Given the description of an element on the screen output the (x, y) to click on. 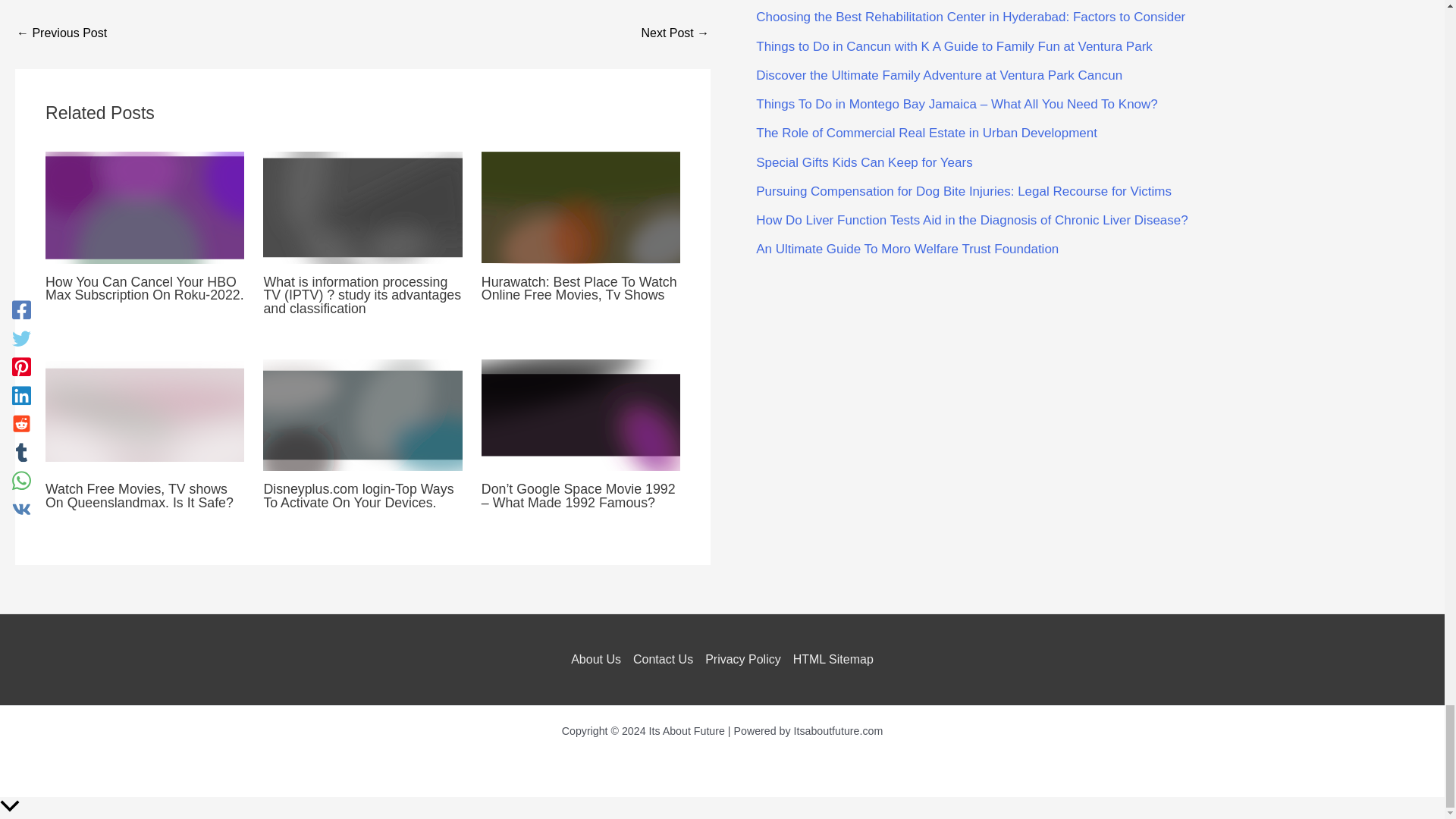
Disneyplus.com login-Top Ways To Activate On Your Devices. 7 (362, 415)
Watch Free Movies, TV shows On Queenslandmax. Is It Safe? 6 (144, 415)
Don't Google Space Movie 1992 - What Made 1992 Famous? 8 (580, 415)
How You Can Cancel Your HBO Max Subscription On Roku-2022. 3 (144, 207)
